Given the description of an element on the screen output the (x, y) to click on. 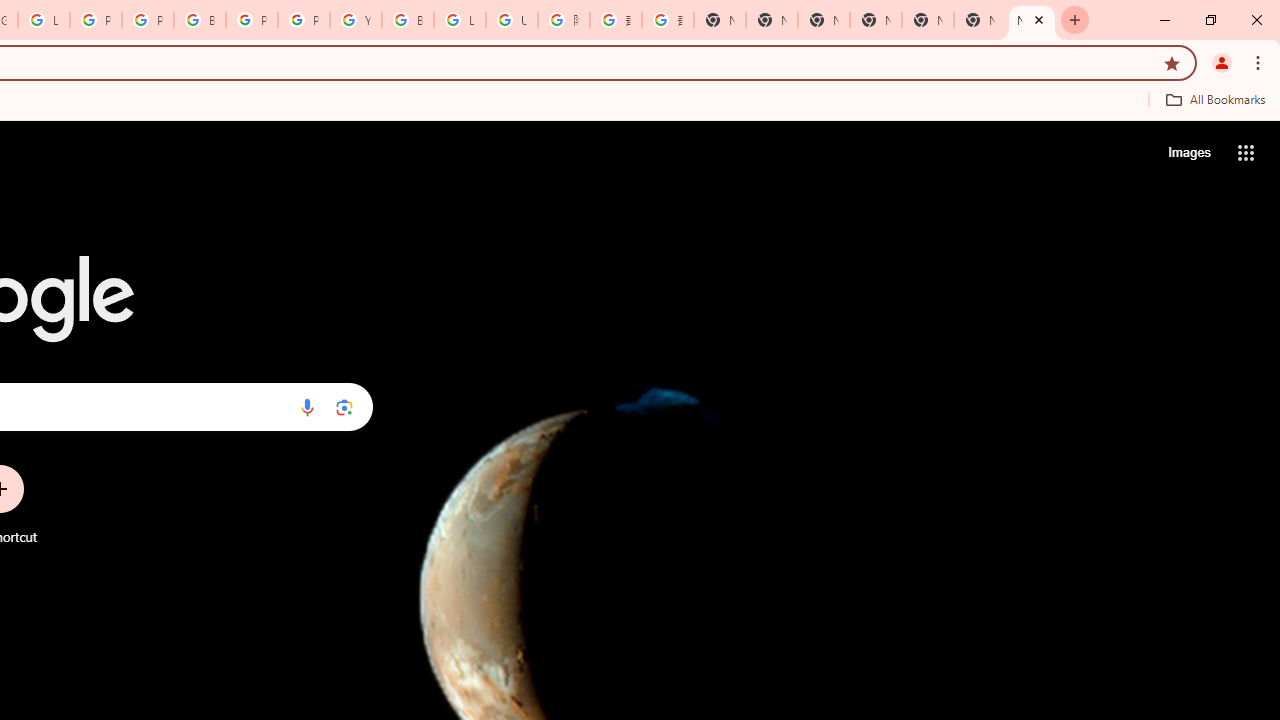
YouTube (355, 20)
New Tab (719, 20)
Privacy Help Center - Policies Help (95, 20)
